Given the description of an element on the screen output the (x, y) to click on. 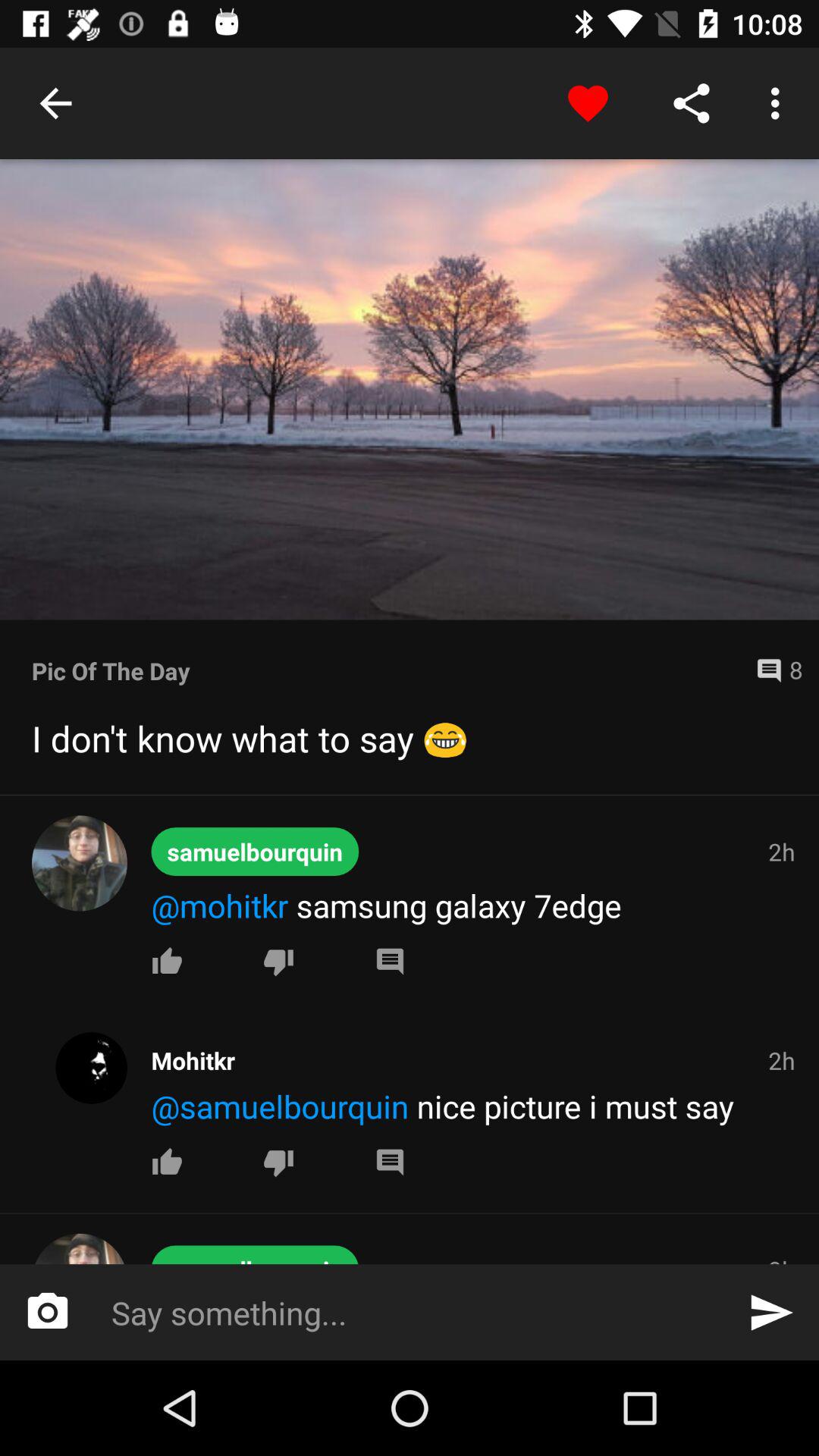
scroll until the samuelbourquin nice picture (475, 1105)
